Given the description of an element on the screen output the (x, y) to click on. 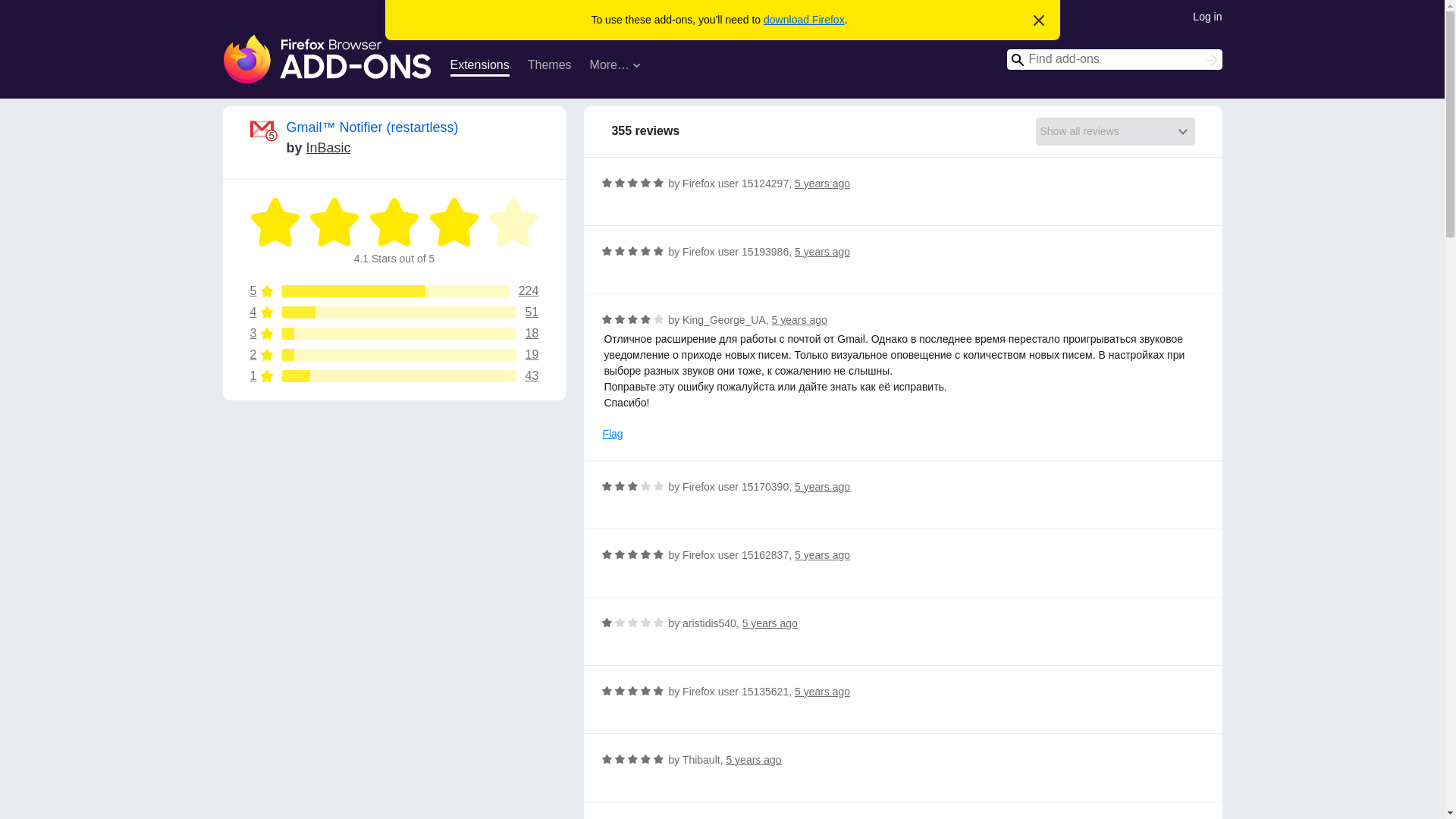
Log in (1206, 14)
InBasic (327, 147)
Rated 4.1 out of 5 (512, 222)
5 years ago (769, 623)
5 years ago (799, 319)
Themes (549, 66)
Rated 4.1 out of 5 (394, 222)
5 years ago (394, 376)
Read all 18 three-star reviews (822, 486)
